Given the description of an element on the screen output the (x, y) to click on. 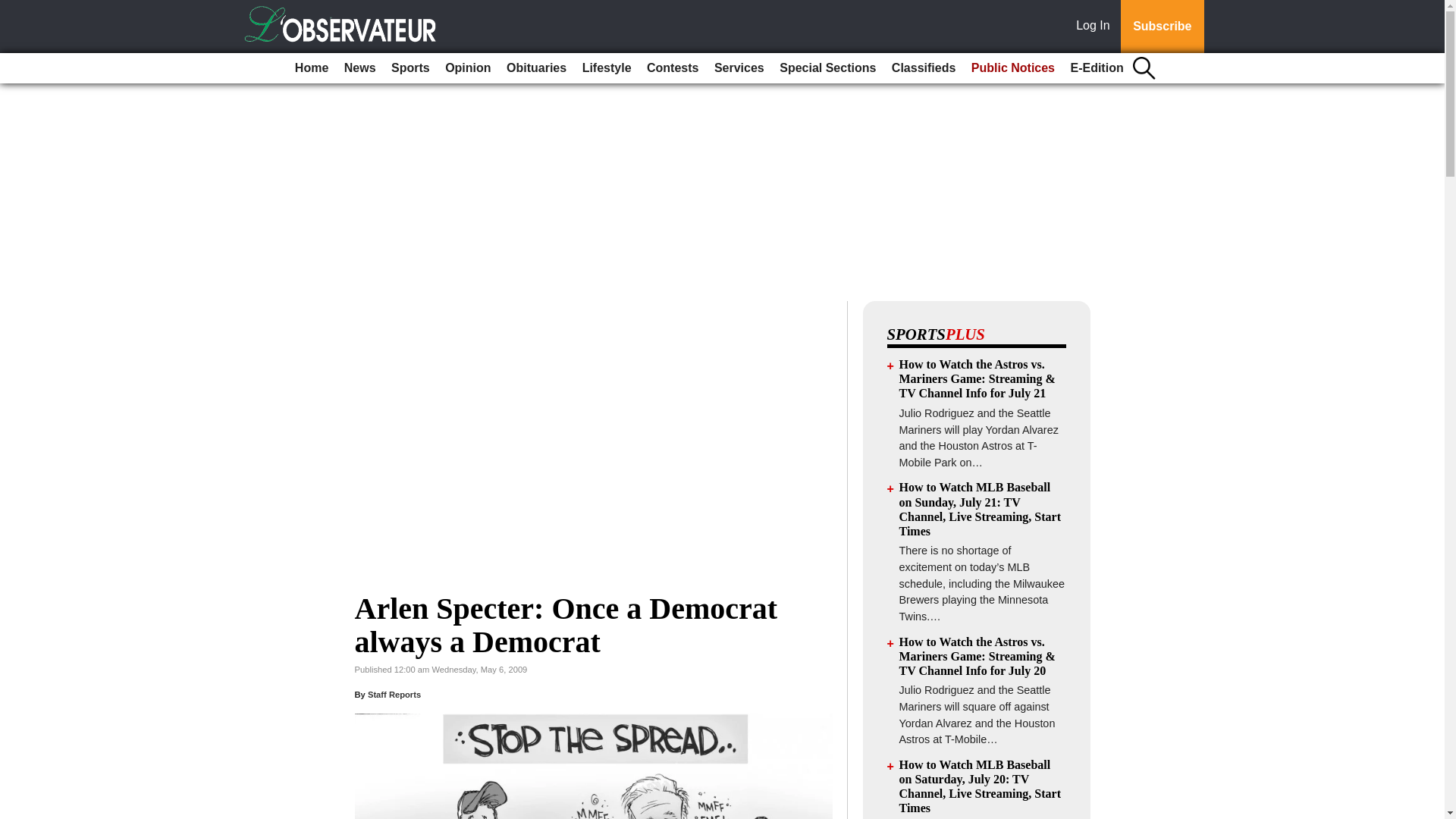
Public Notices (1013, 68)
News (359, 68)
Home (311, 68)
Obituaries (536, 68)
Special Sections (827, 68)
Subscribe (1162, 26)
Lifestyle (606, 68)
Contests (672, 68)
Opinion (467, 68)
Staff Reports (394, 694)
Log In (1095, 26)
Sports (410, 68)
Go (13, 9)
